Given the description of an element on the screen output the (x, y) to click on. 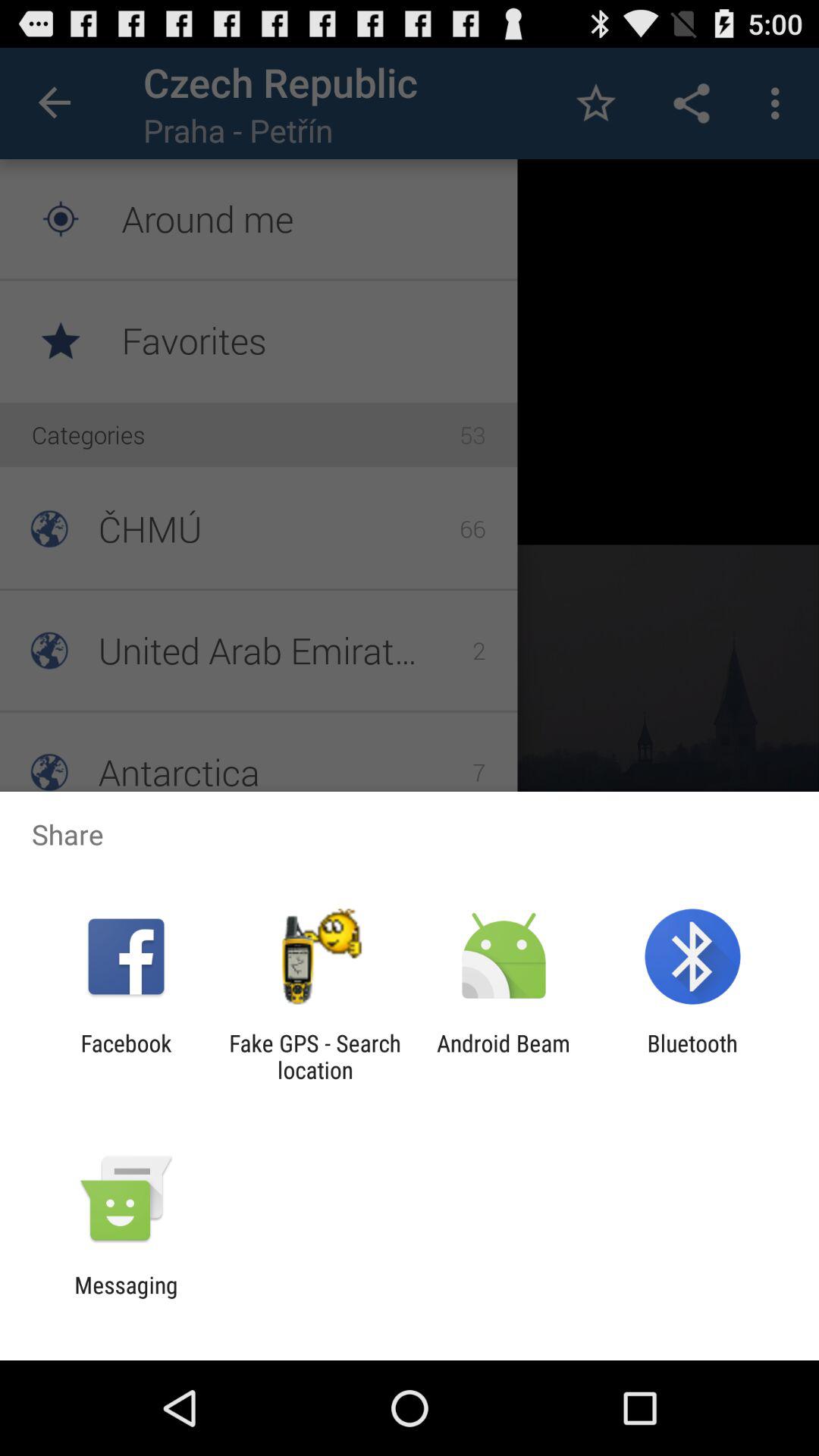
turn on the fake gps search (314, 1056)
